Given the description of an element on the screen output the (x, y) to click on. 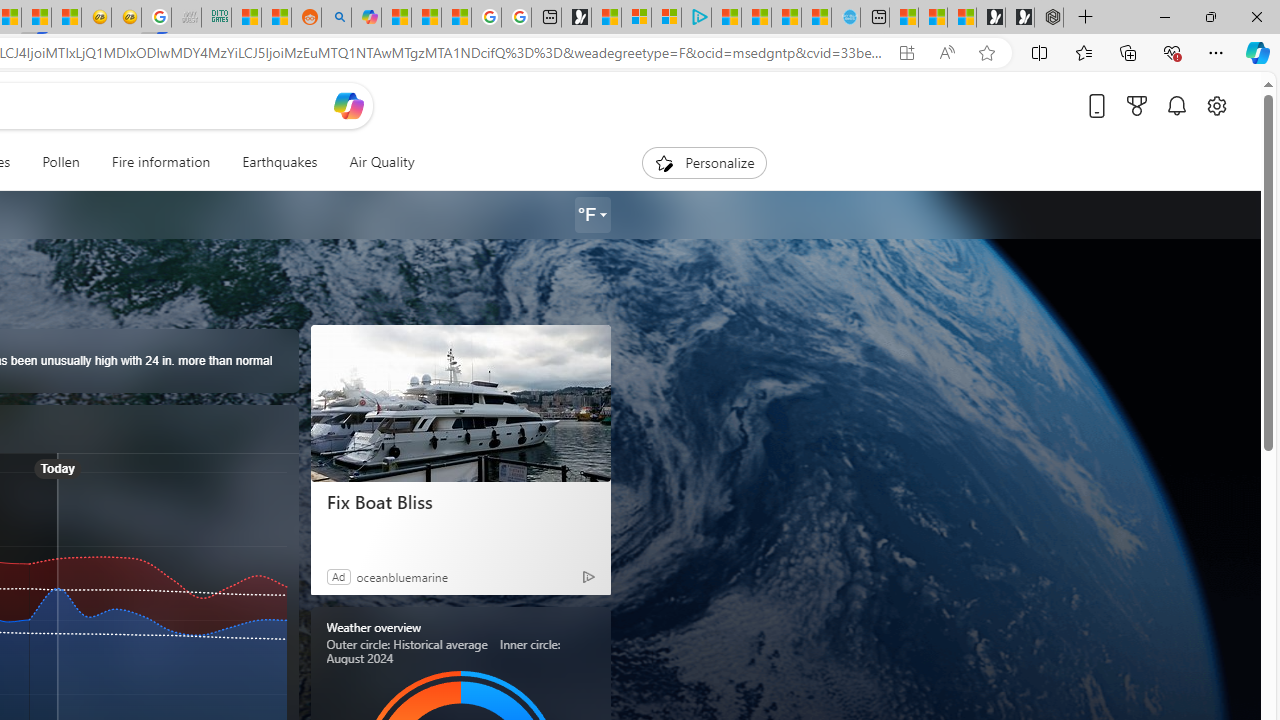
Earthquakes (280, 162)
Utah sues federal government - Search (336, 17)
oceanbluemarine (401, 576)
